Given the description of an element on the screen output the (x, y) to click on. 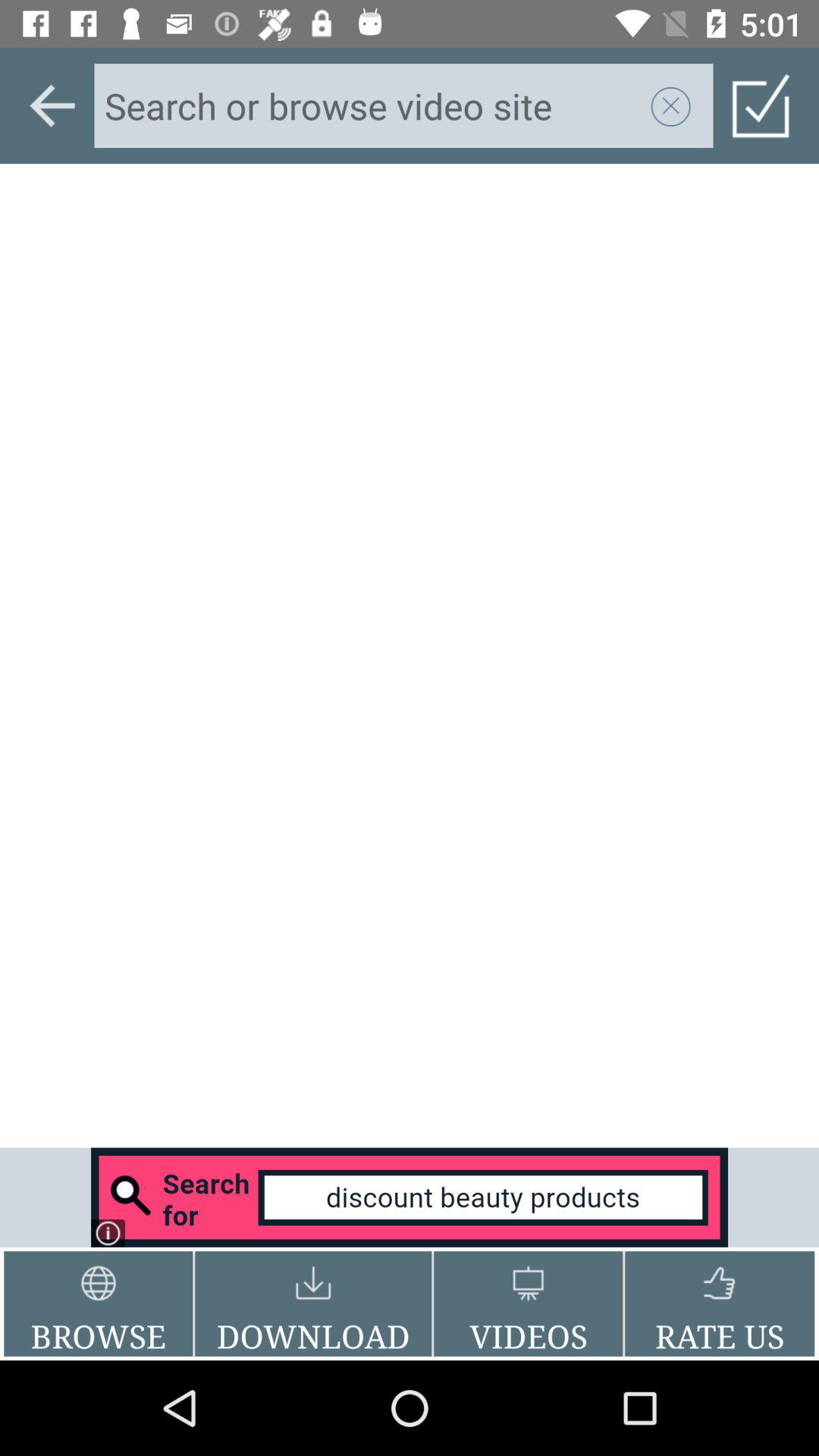
go back (52, 105)
